Given the description of an element on the screen output the (x, y) to click on. 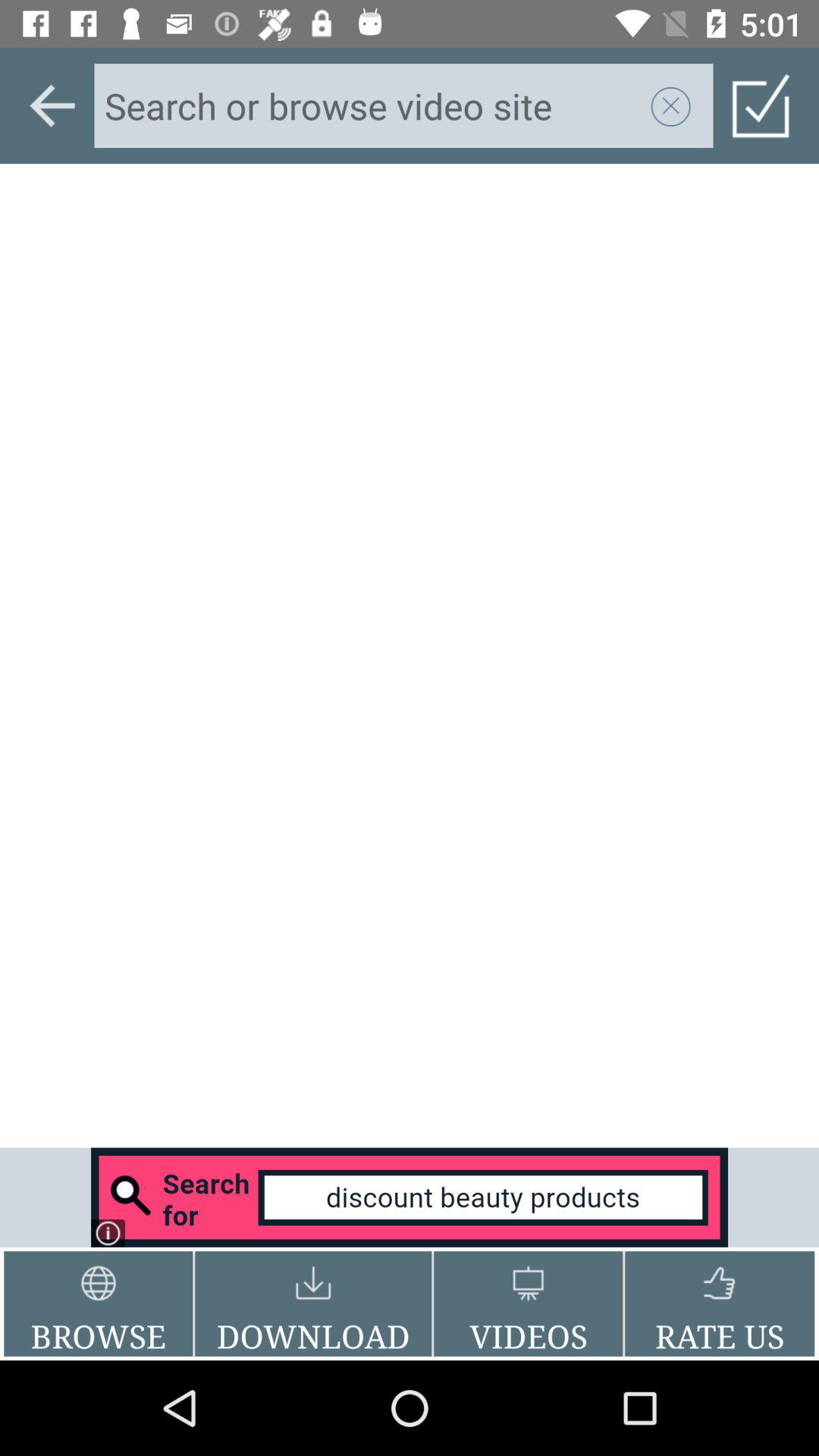
go back (52, 105)
